Given the description of an element on the screen output the (x, y) to click on. 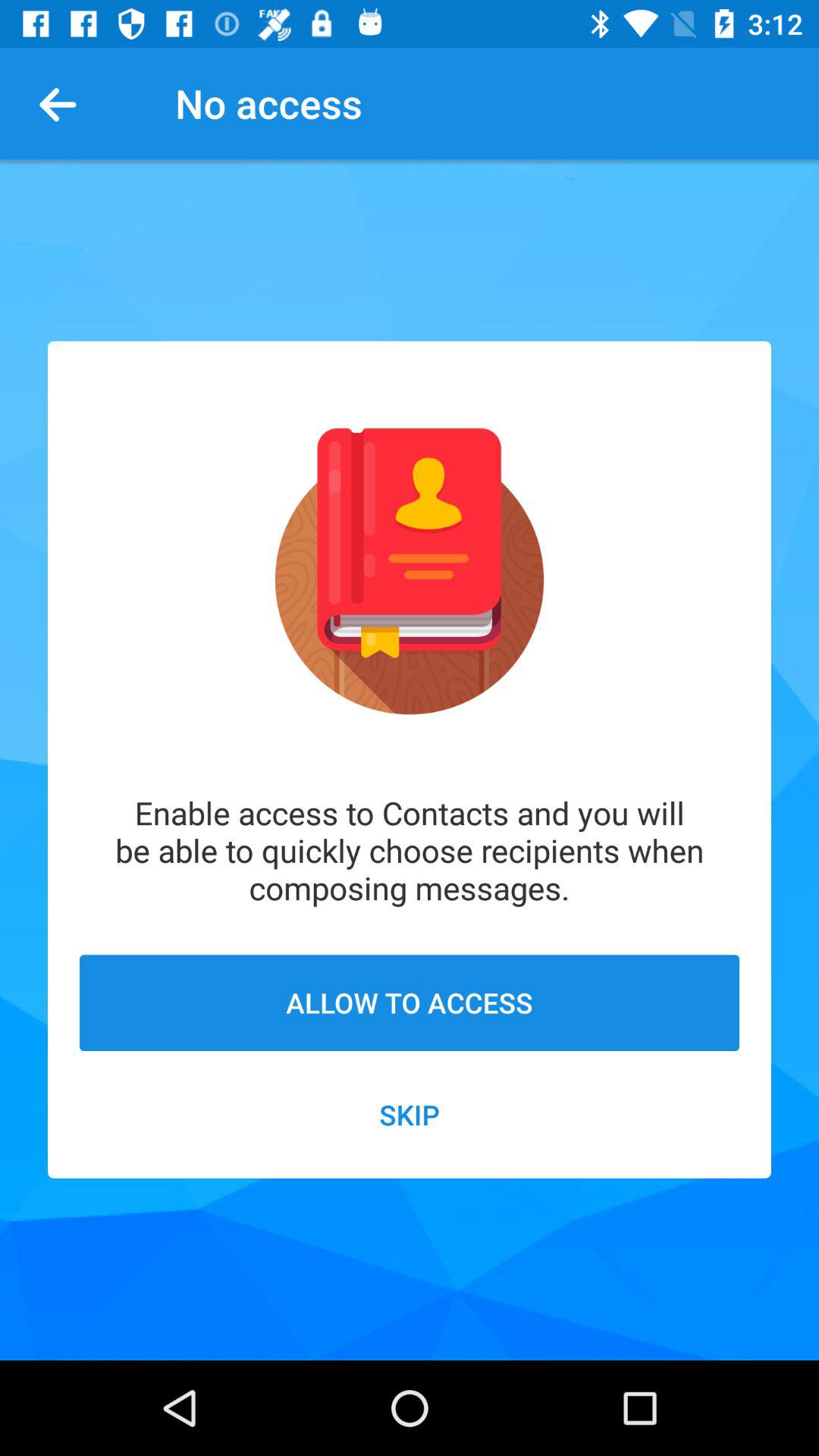
turn off item to the left of the no access (63, 103)
